Given the description of an element on the screen output the (x, y) to click on. 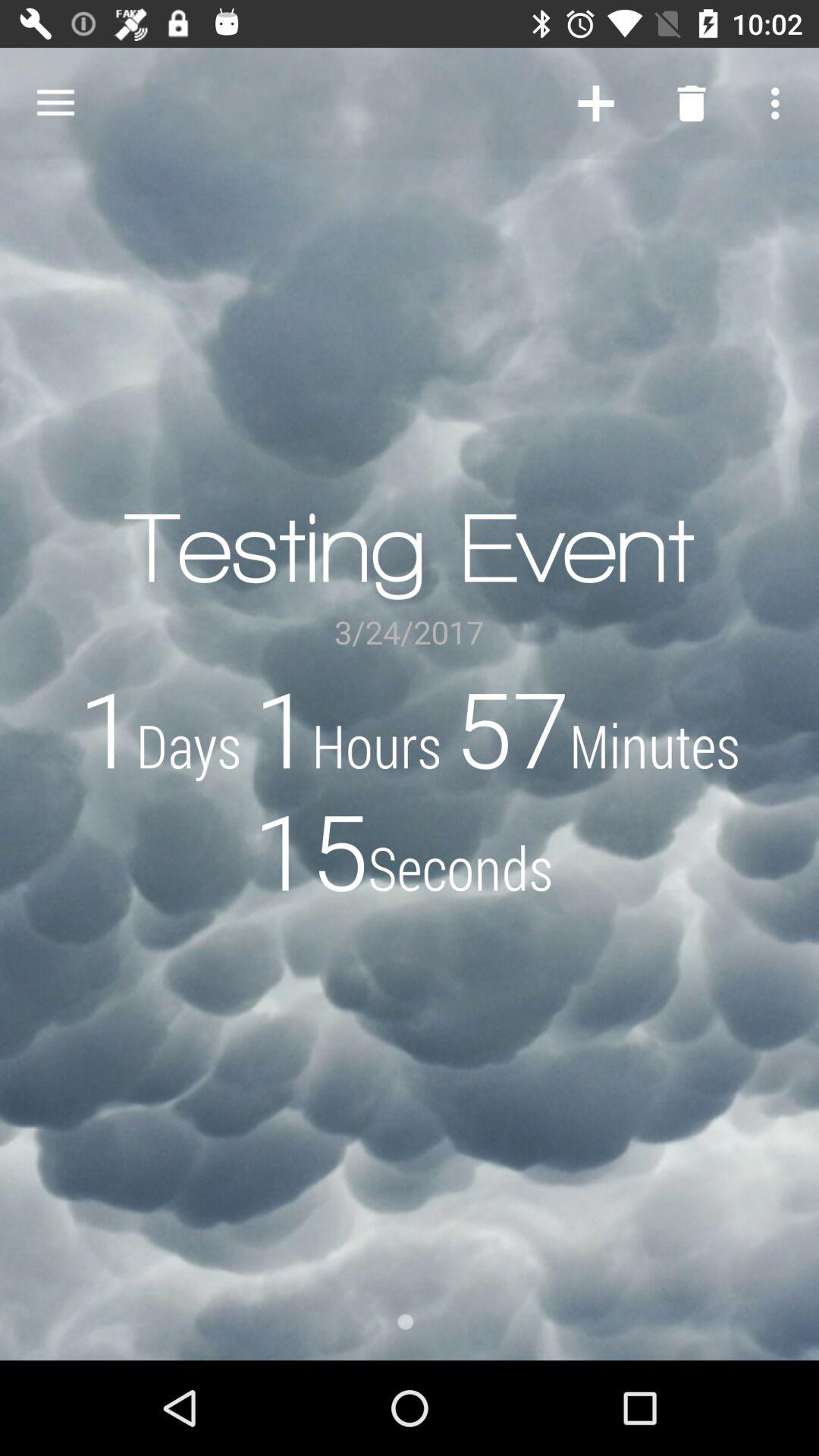
choose item next to testing event item (595, 103)
